Given the description of an element on the screen output the (x, y) to click on. 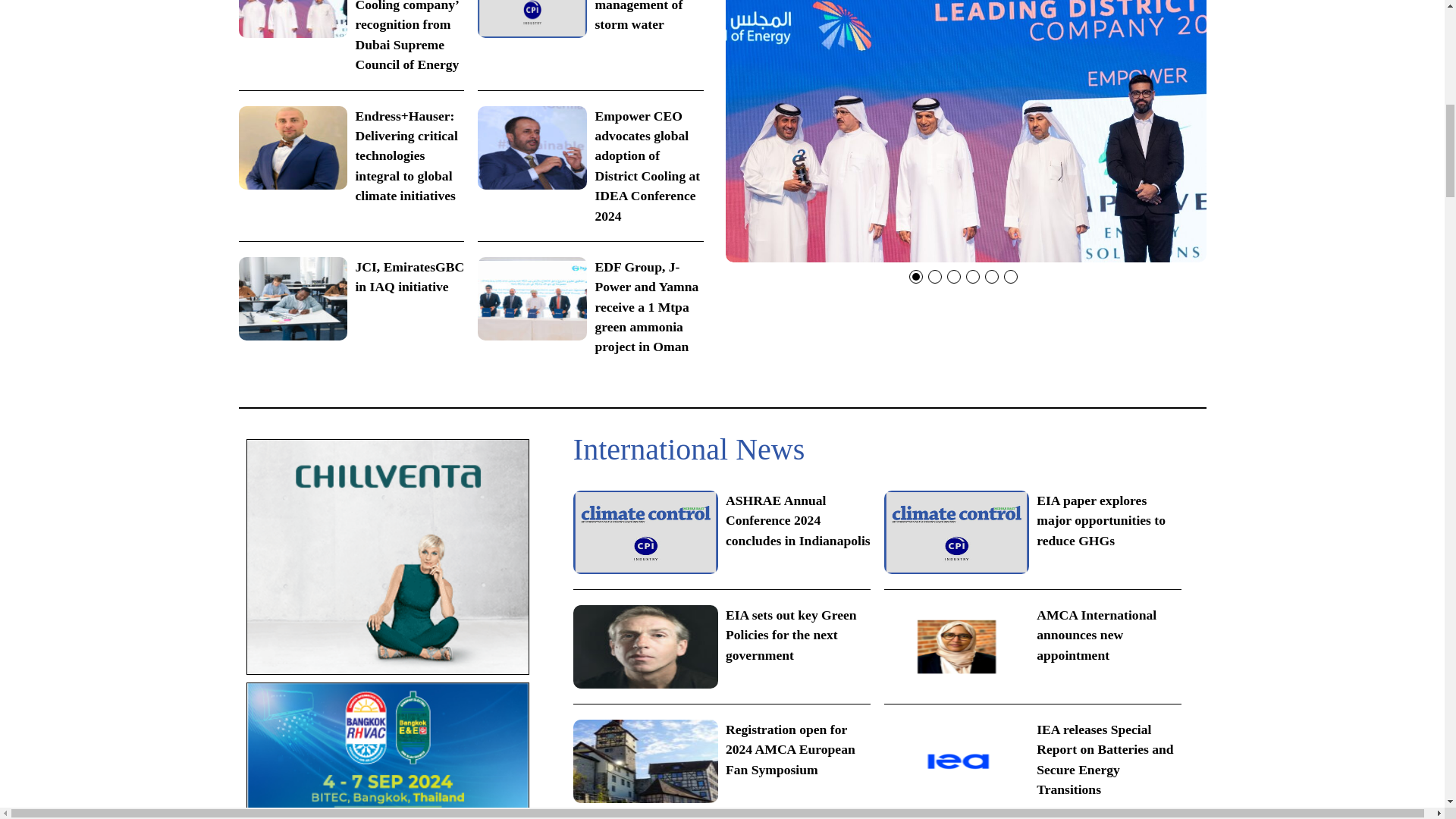
JCI, EmiratesGBC in IAQ initiative (351, 298)
Former ministerial aide advises on management of storm water (590, 18)
